Given the description of an element on the screen output the (x, y) to click on. 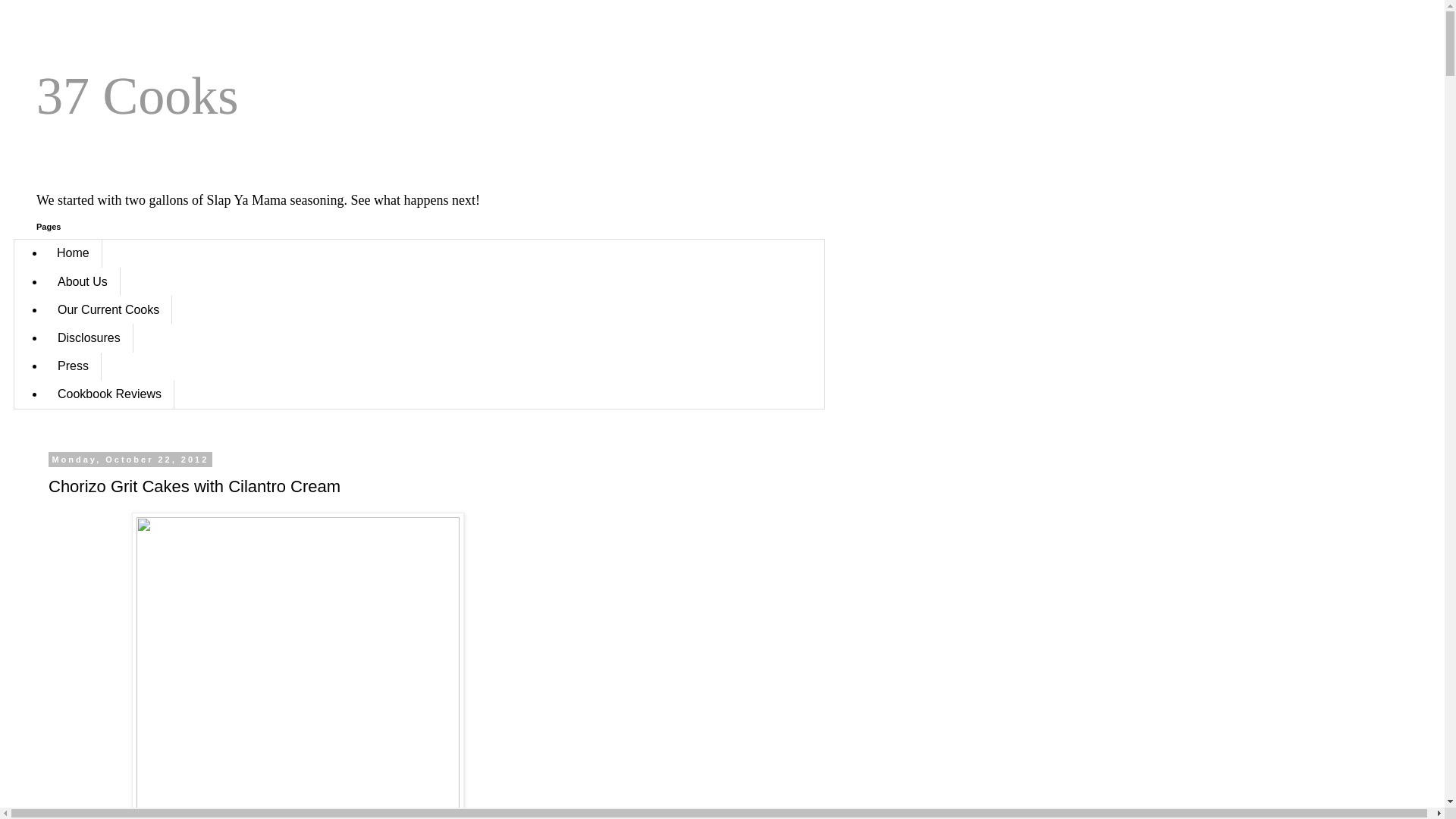
About Us Element type: text (82, 281)
Our Current Cooks Element type: text (108, 309)
Disclosures Element type: text (88, 337)
Press Element type: text (72, 366)
Home Element type: text (73, 253)
37 Cooks Element type: text (137, 95)
Cookbook Reviews Element type: text (109, 394)
